Given the description of an element on the screen output the (x, y) to click on. 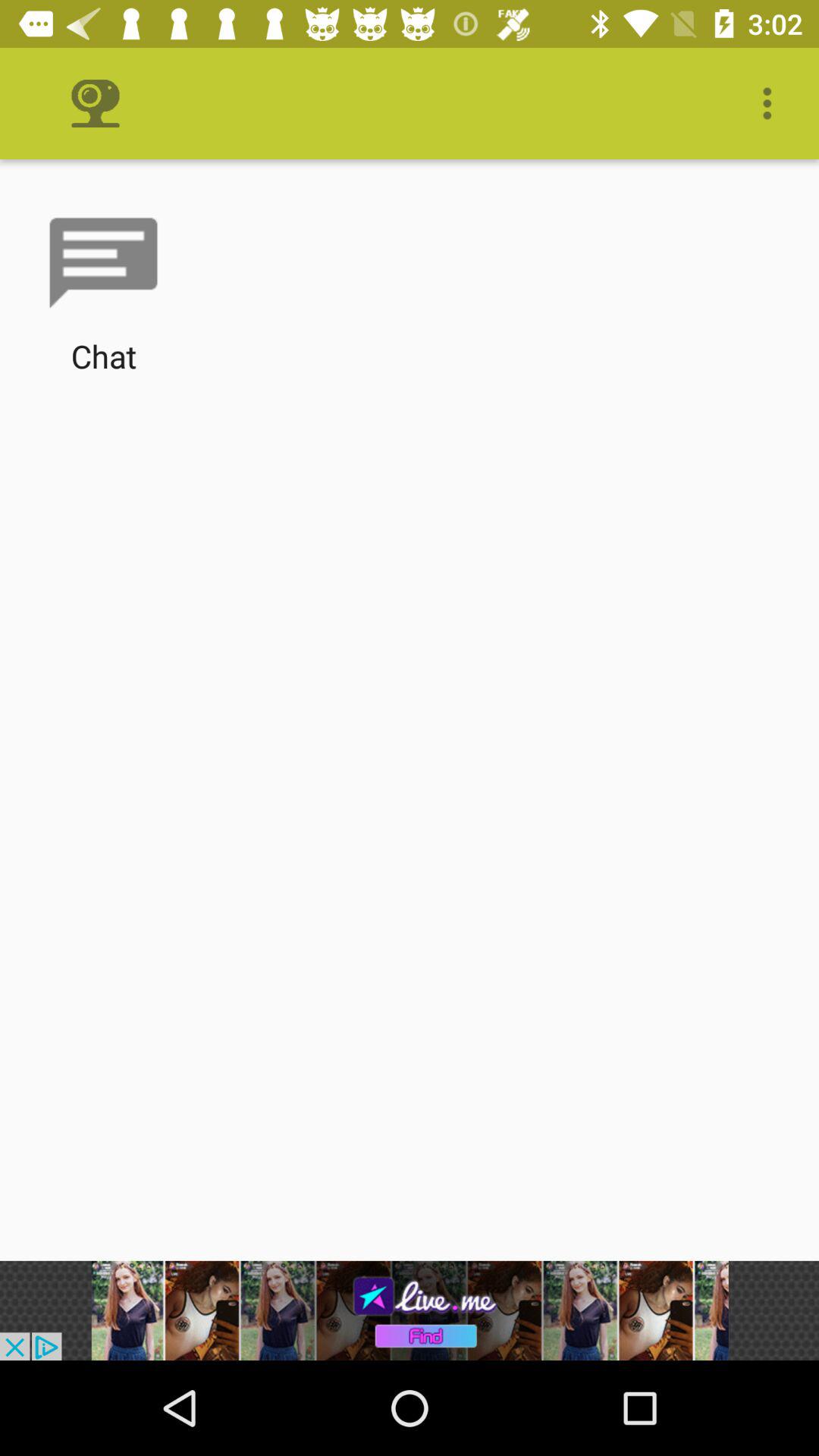
advertisement (409, 1310)
